Given the description of an element on the screen output the (x, y) to click on. 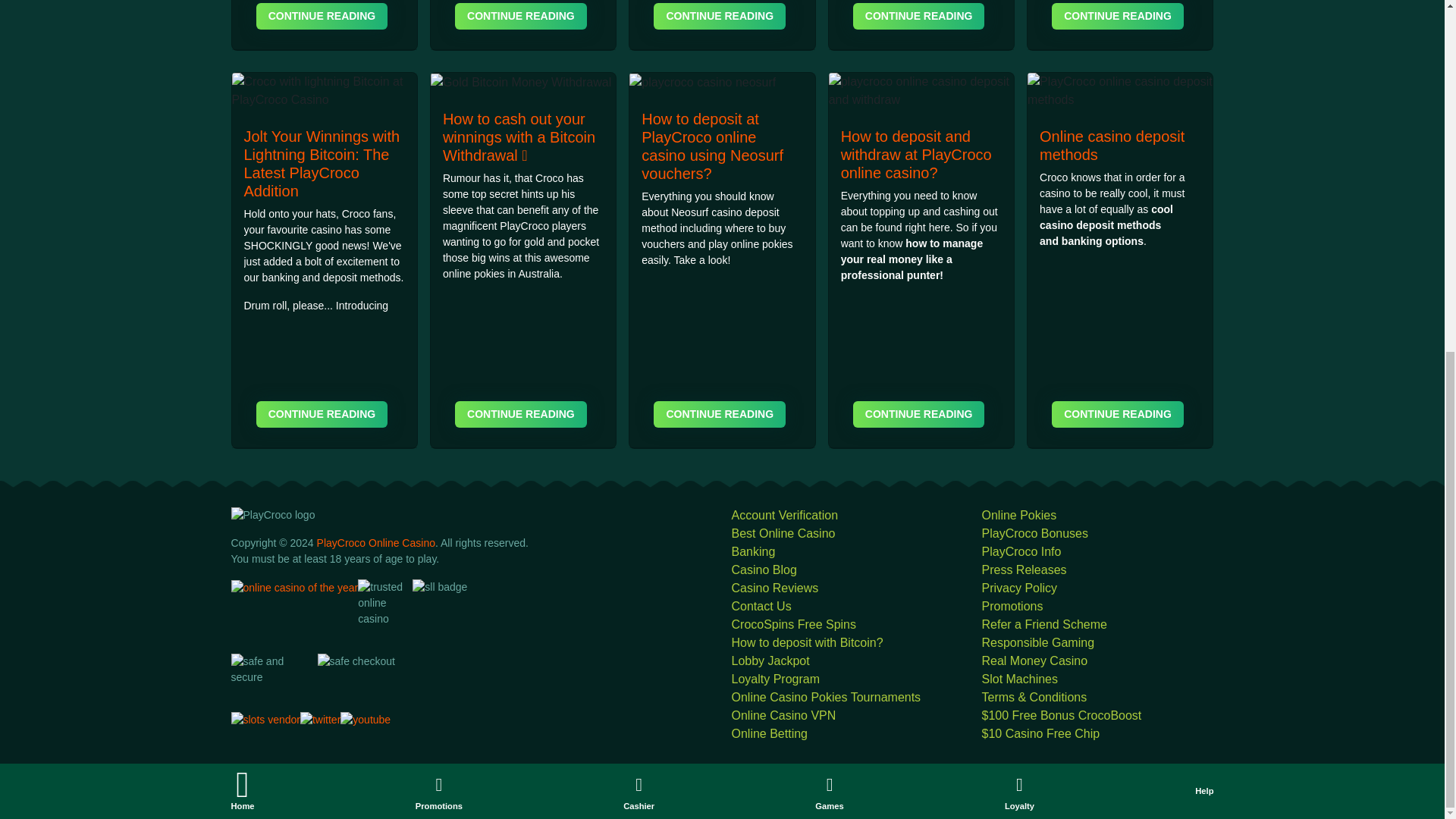
CONTINUE READING (1117, 16)
playcroco casino neosurf (702, 82)
Neosurf (689, 212)
CONTINUE READING (919, 414)
CONTINUE READING (1117, 414)
playcroco real money online casino (894, 259)
CONTINUE READING (520, 16)
CONTINUE READING (322, 414)
neosurf australia (689, 212)
CONTINUE READING (719, 16)
CONTINUE READING (719, 414)
real money (894, 259)
Best Online Casino (782, 533)
playcroco online casino deposit and withdraw (920, 90)
CONTINUE READING (919, 16)
